Given the description of an element on the screen output the (x, y) to click on. 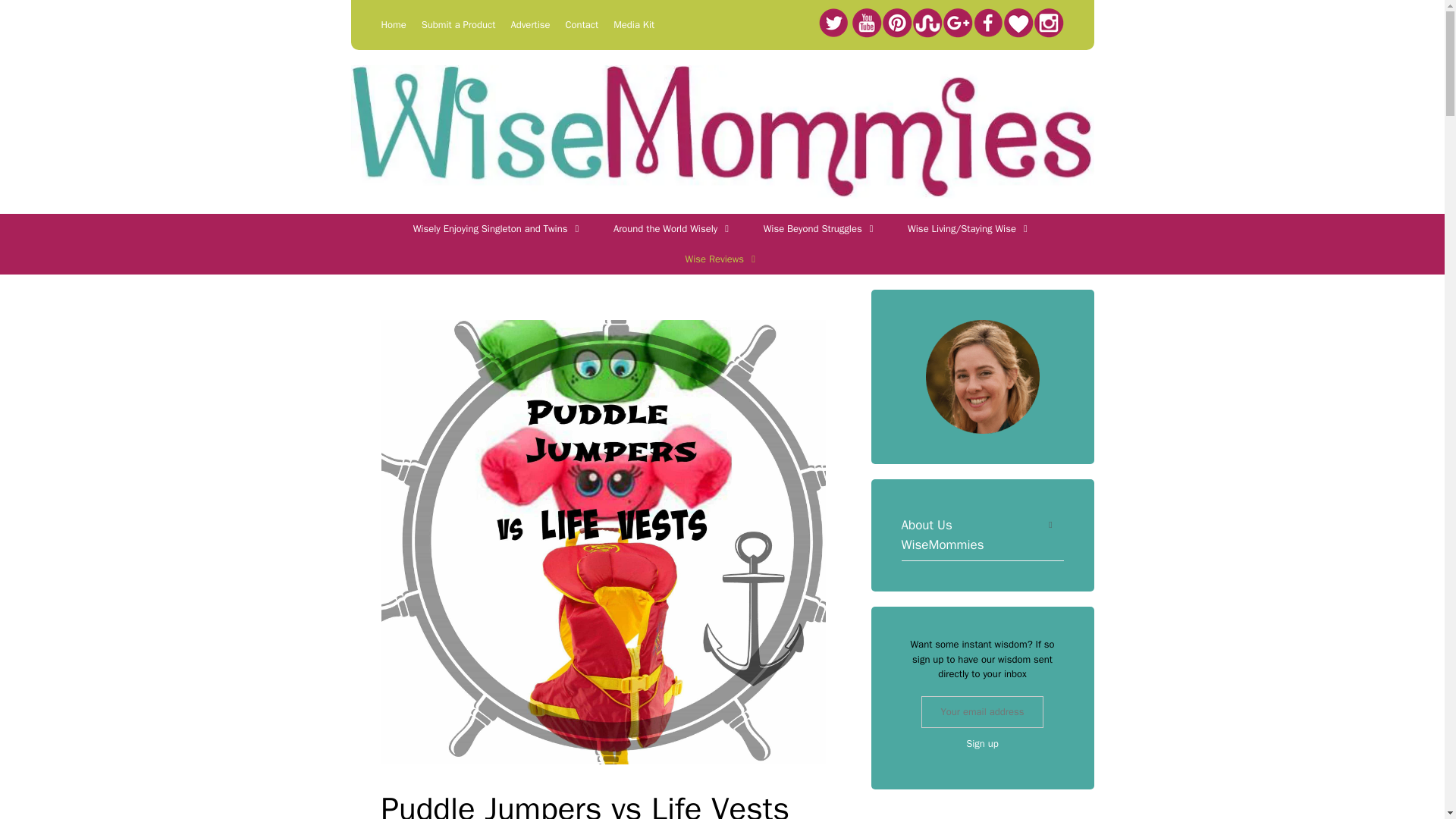
Advertise (530, 24)
Sign up (982, 744)
Media Kit (632, 24)
Submit a Product (459, 24)
Home (393, 24)
Around the World Wisely (673, 228)
Contact (582, 24)
Wise Beyond Struggles (820, 228)
Wise Reviews (721, 259)
Wisely Enjoying Singleton and Twins (497, 228)
